Given the description of an element on the screen output the (x, y) to click on. 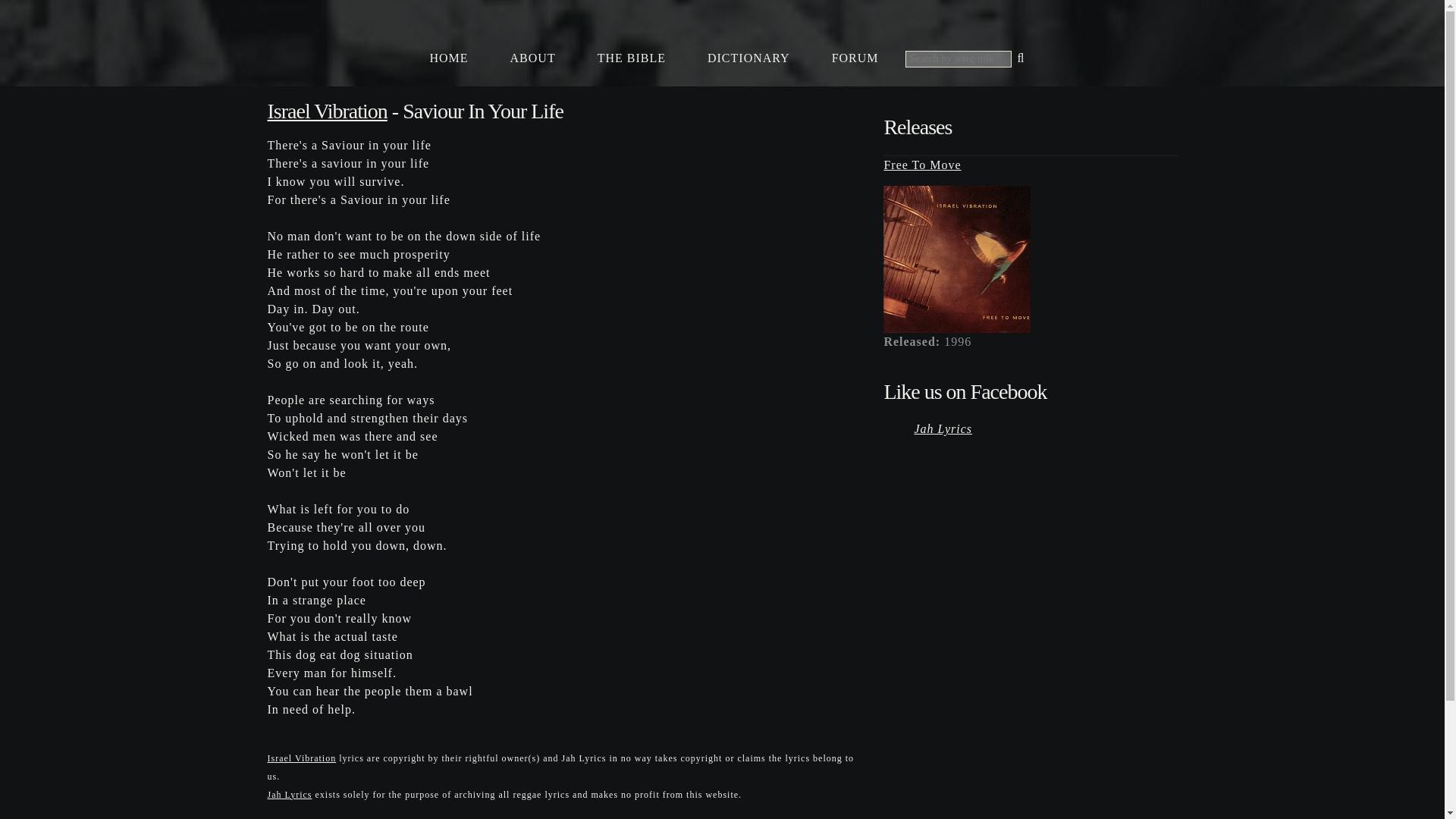
DICTIONARY (748, 58)
FORUM (855, 58)
Israel Vibration (301, 757)
Jah Lyrics (943, 428)
Jah Lyrics (288, 793)
ABOUT (532, 58)
HOME (448, 58)
Israel Vibration (326, 110)
Free To Move (921, 164)
THE BIBLE (631, 58)
